Given the description of an element on the screen output the (x, y) to click on. 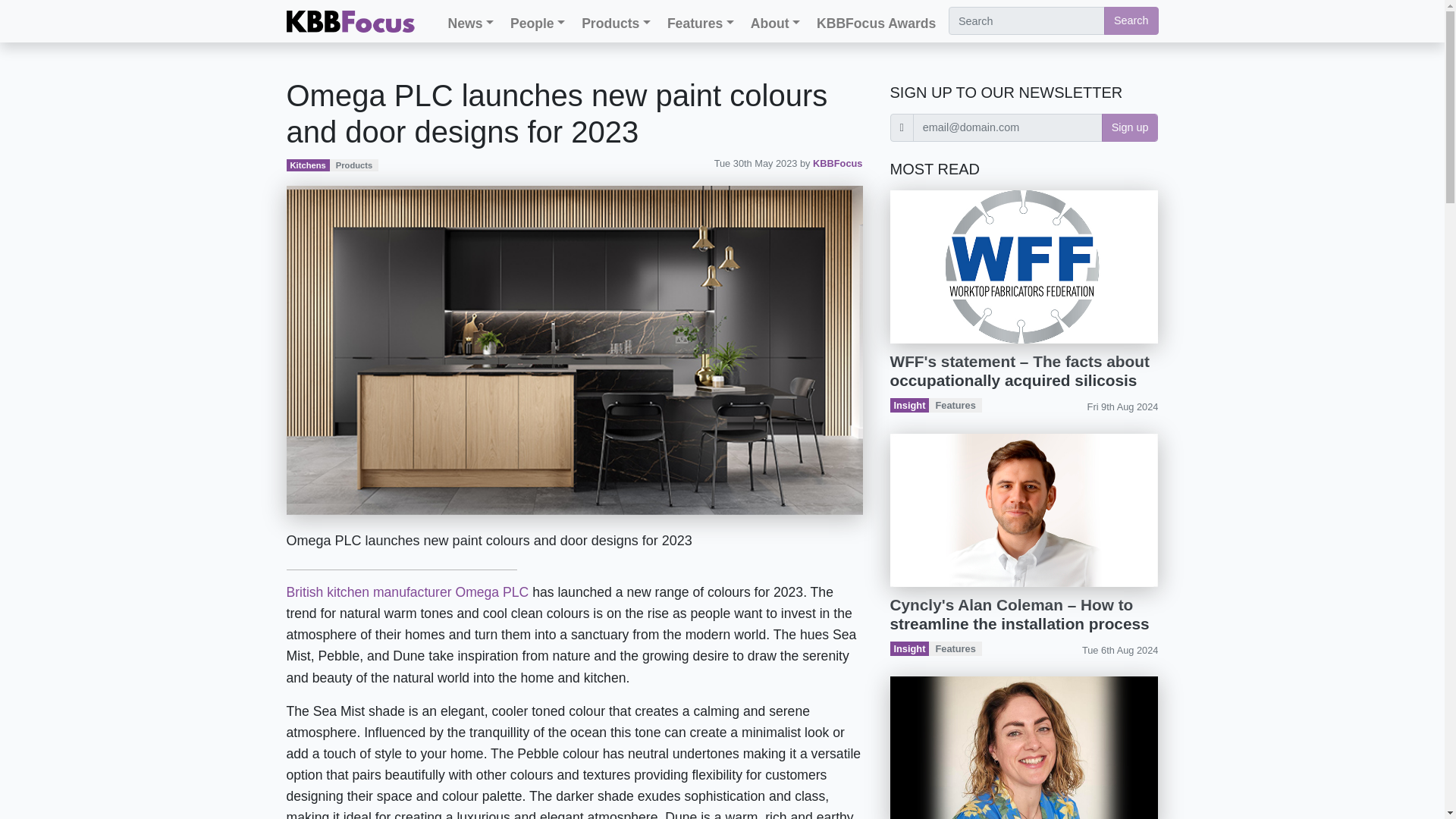
KBBFocus (836, 163)
Search (1130, 20)
Features (700, 23)
KBBFocus Awards (876, 23)
Search (1130, 20)
British kitchen manufacturer Omega PLC (407, 591)
People (536, 23)
Sign up (1130, 127)
About (775, 23)
Products (615, 23)
